Given the description of an element on the screen output the (x, y) to click on. 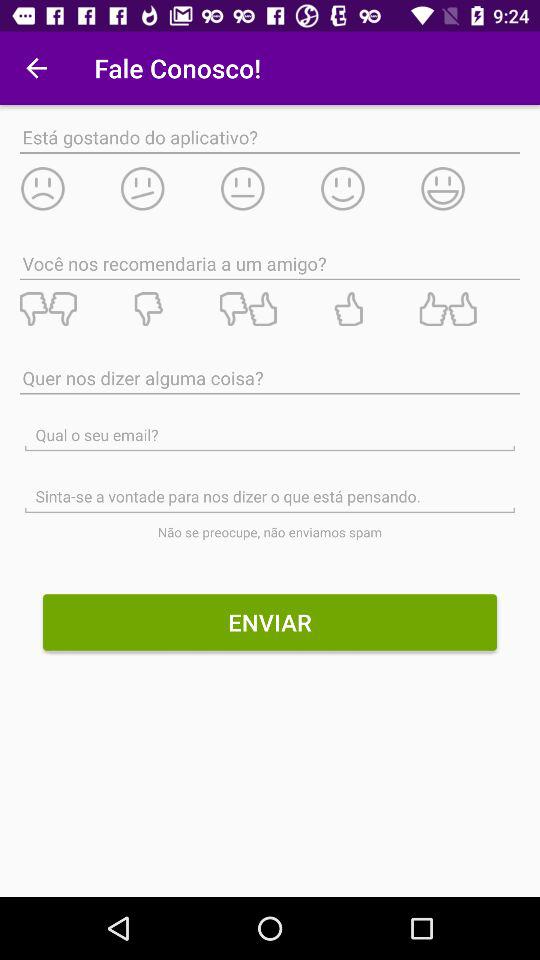
give a thumbs down rating (69, 309)
